Given the description of an element on the screen output the (x, y) to click on. 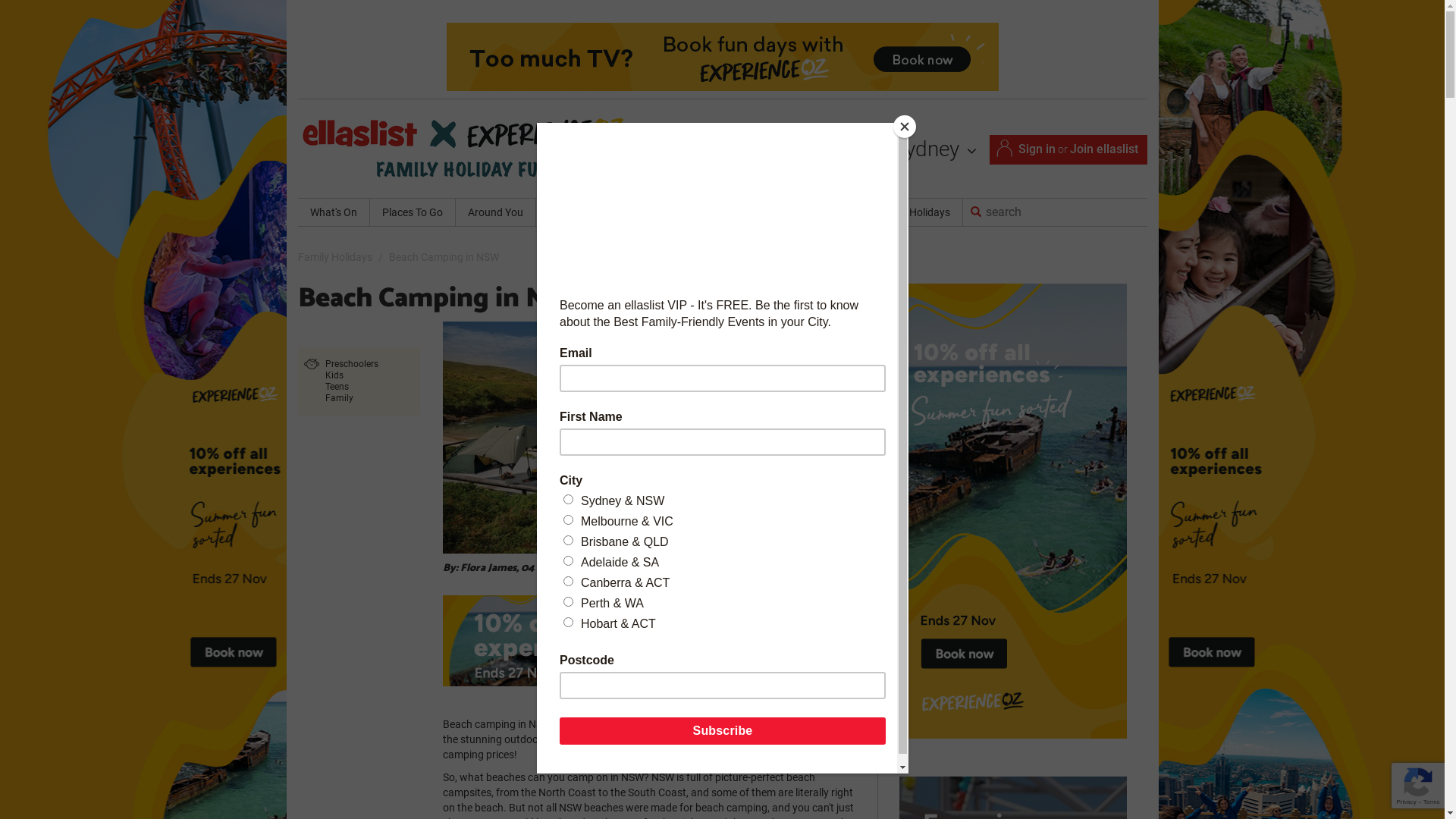
Kids Classes Element type: text (576, 211)
Schools Element type: text (650, 211)
What's On Element type: text (332, 211)
Sign in Element type: text (1035, 148)
Family Holidays Element type: text (334, 257)
Around You Element type: text (494, 211)
Sydney Element type: text (933, 149)
Best Reads Element type: text (720, 211)
Places To Go Element type: text (412, 211)
Family Holidays Element type: text (911, 211)
3rd party ad content Element type: hover (721, 21)
3rd party ad content Element type: hover (648, 640)
3rd party ad content Element type: hover (721, 56)
Join ellaslist Element type: text (1103, 148)
3rd party ad content Element type: hover (1012, 510)
Sensory-Friendly Element type: text (810, 211)
